Given the description of an element on the screen output the (x, y) to click on. 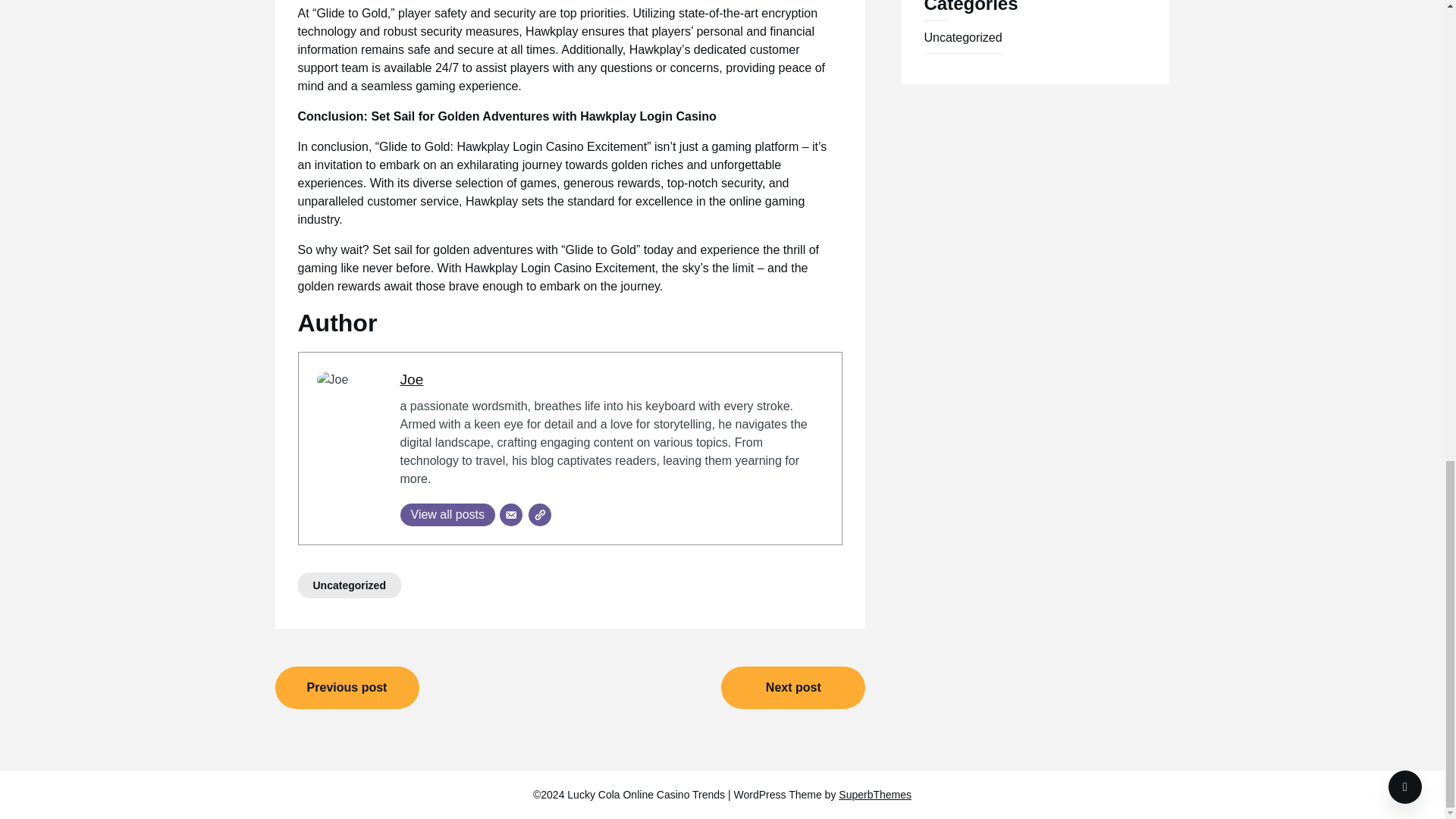
View all posts (448, 514)
Joe (411, 379)
Next post (792, 687)
Previous post (347, 687)
Uncategorized (348, 585)
Joe (411, 379)
View all posts (448, 514)
